Given the description of an element on the screen output the (x, y) to click on. 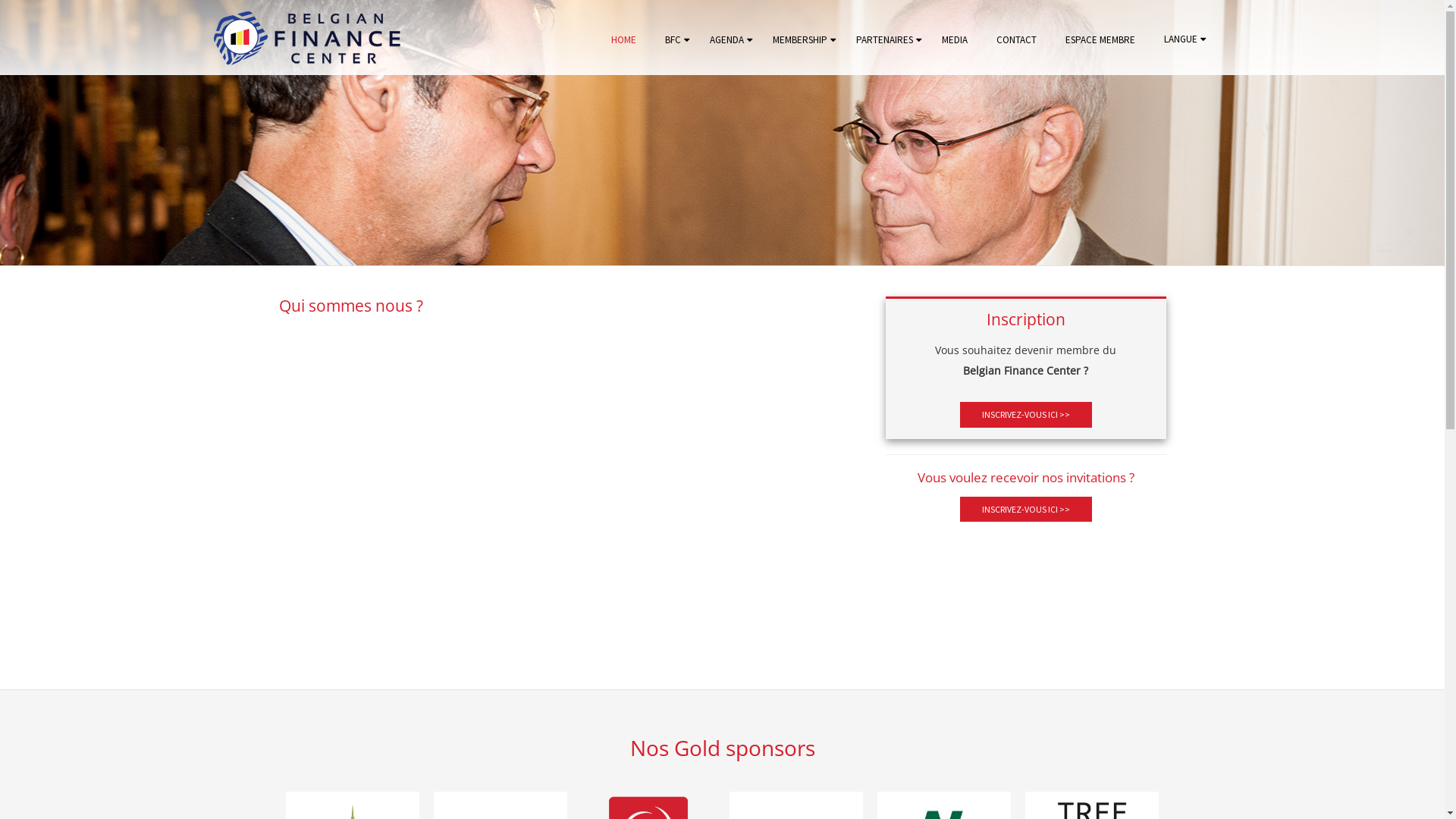
ESPACE MEMBRE Element type: text (1100, 39)
Partenaires Element type: text (1337, 263)
CONTACT Element type: text (1015, 39)
LANGUE Element type: text (1180, 39)
BFC Element type: text (1337, 106)
AGENDA Element type: text (725, 39)
MEDIA Element type: text (953, 39)
HOME Element type: text (622, 39)
Espace Membre Element type: text (1337, 412)
Langue Element type: text (1337, 464)
Membership Element type: text (1337, 210)
Home Element type: text (1337, 53)
video-output-3086AB9B-2182-47B7-A10B-6BD9D729EA8E Element type: hover (570, 494)
Agenda Element type: text (1337, 158)
PARTENAIRES Element type: text (884, 39)
INSCRIVEZ-VOUS ICI >> Element type: text (1026, 413)
INSCRIVEZ-VOUS ICI >> Element type: text (1026, 508)
BFC Element type: text (672, 39)
Media Element type: text (1337, 315)
MEMBERSHIP Element type: text (799, 39)
Contact Element type: text (1337, 364)
